Given the description of an element on the screen output the (x, y) to click on. 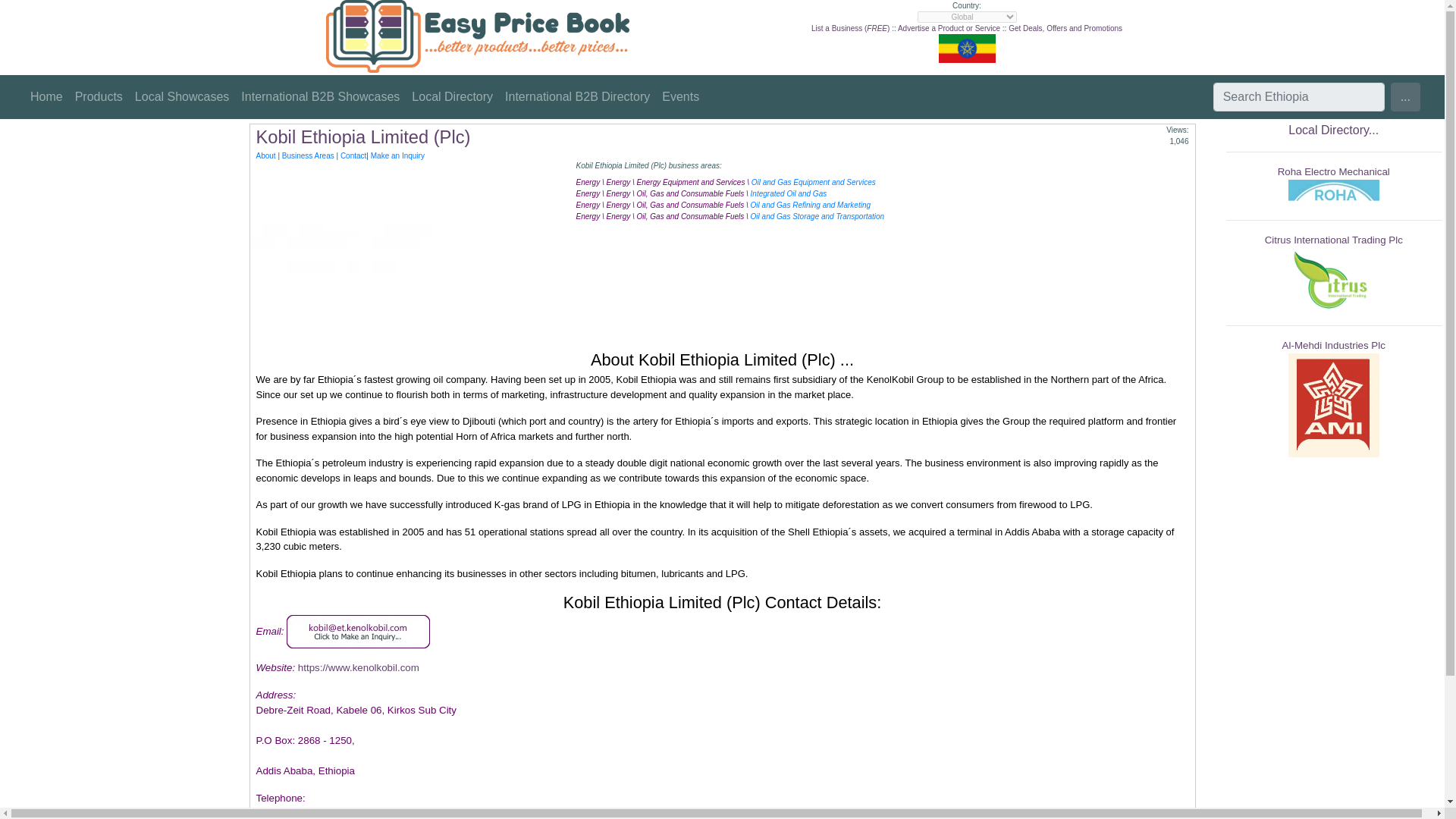
Oil and Gas Equipment and Services (813, 182)
Make an Inquiry (398, 155)
Events (680, 96)
Roha Electro Mechanical (1334, 171)
Al-Mehdi Industries Plc (1334, 345)
About (266, 155)
Local Showcases (182, 96)
Click for more details on Roha Electro Mechanical (1334, 171)
